Given the description of an element on the screen output the (x, y) to click on. 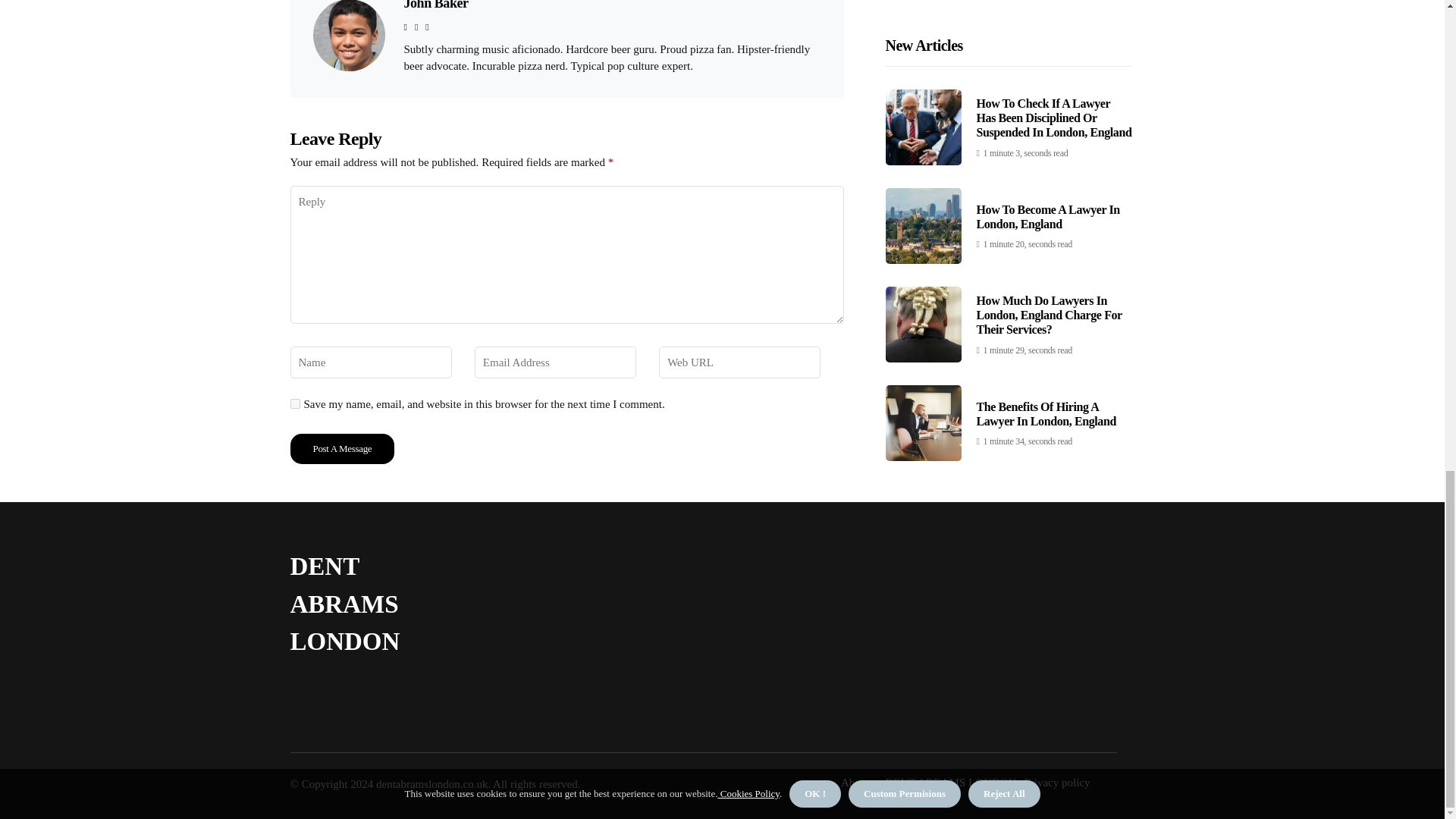
Post a Message (341, 449)
yes (294, 403)
Post a Message (341, 449)
John Baker (435, 5)
